Given the description of an element on the screen output the (x, y) to click on. 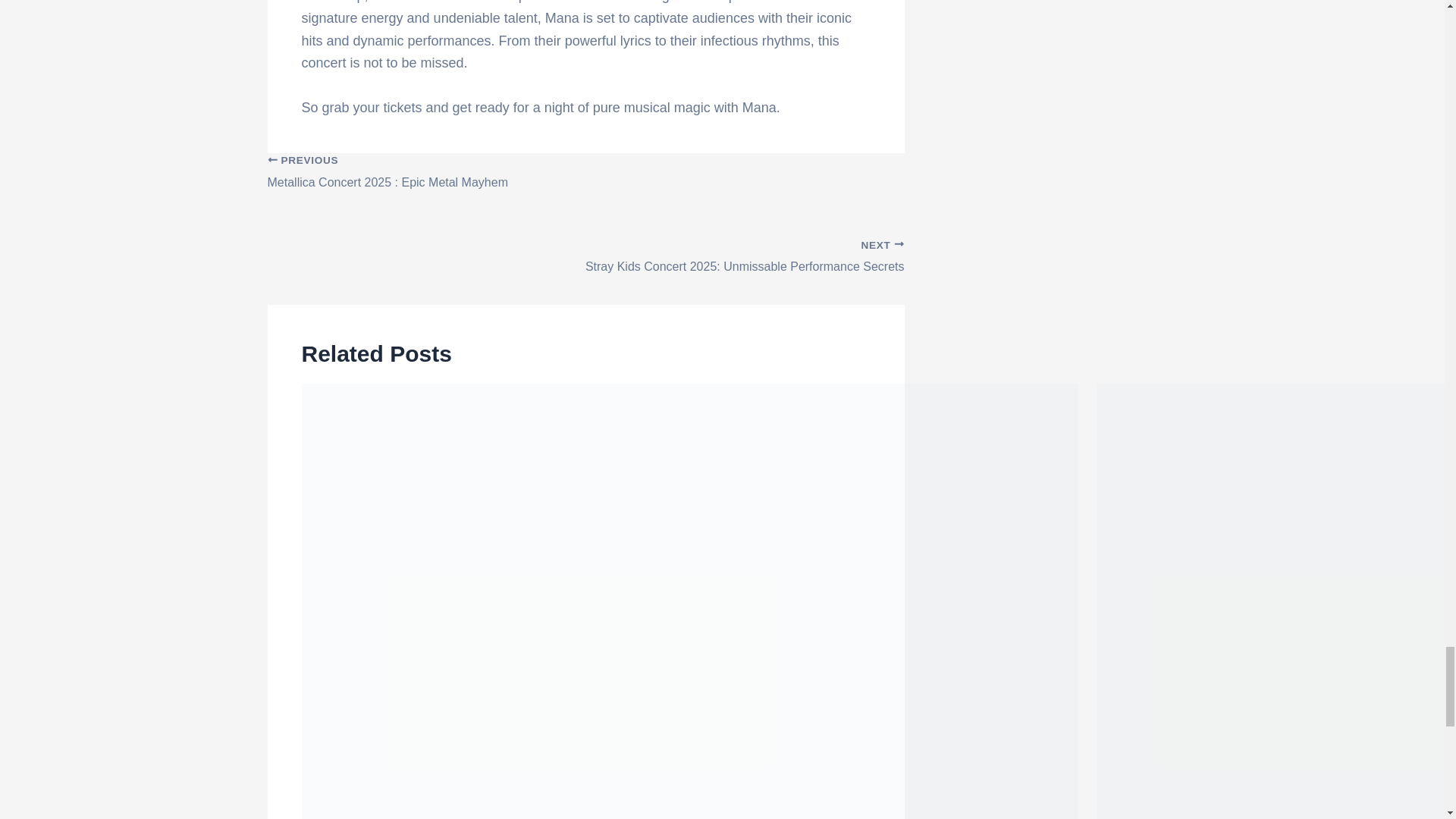
Stray Kids Concert 2025: Unmissable Performance Secrets (585, 248)
Metallica Concert 2025  : Epic Metal Mayhem (585, 181)
